Given the description of an element on the screen output the (x, y) to click on. 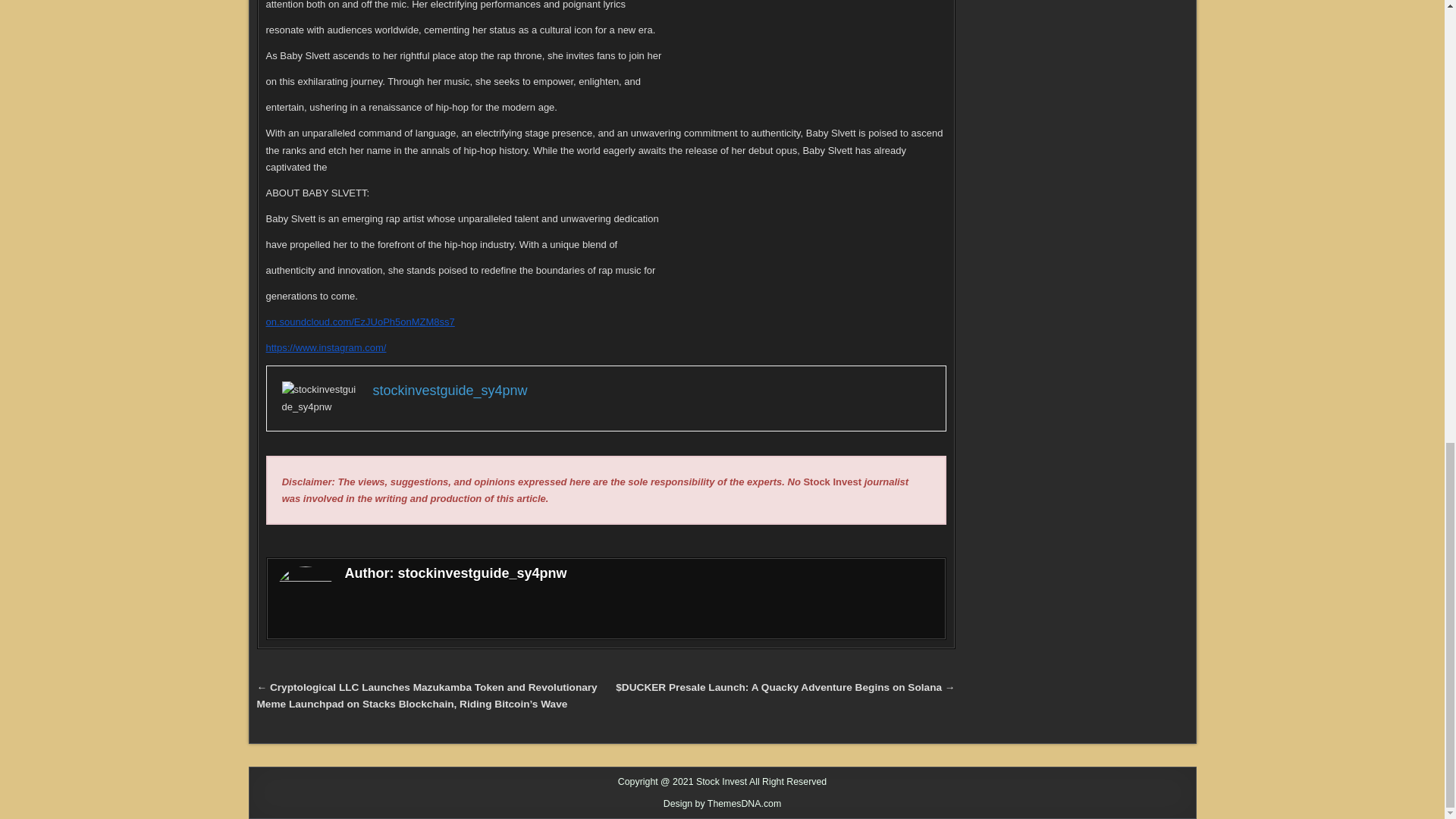
Design by ThemesDNA.com (722, 803)
